Given the description of an element on the screen output the (x, y) to click on. 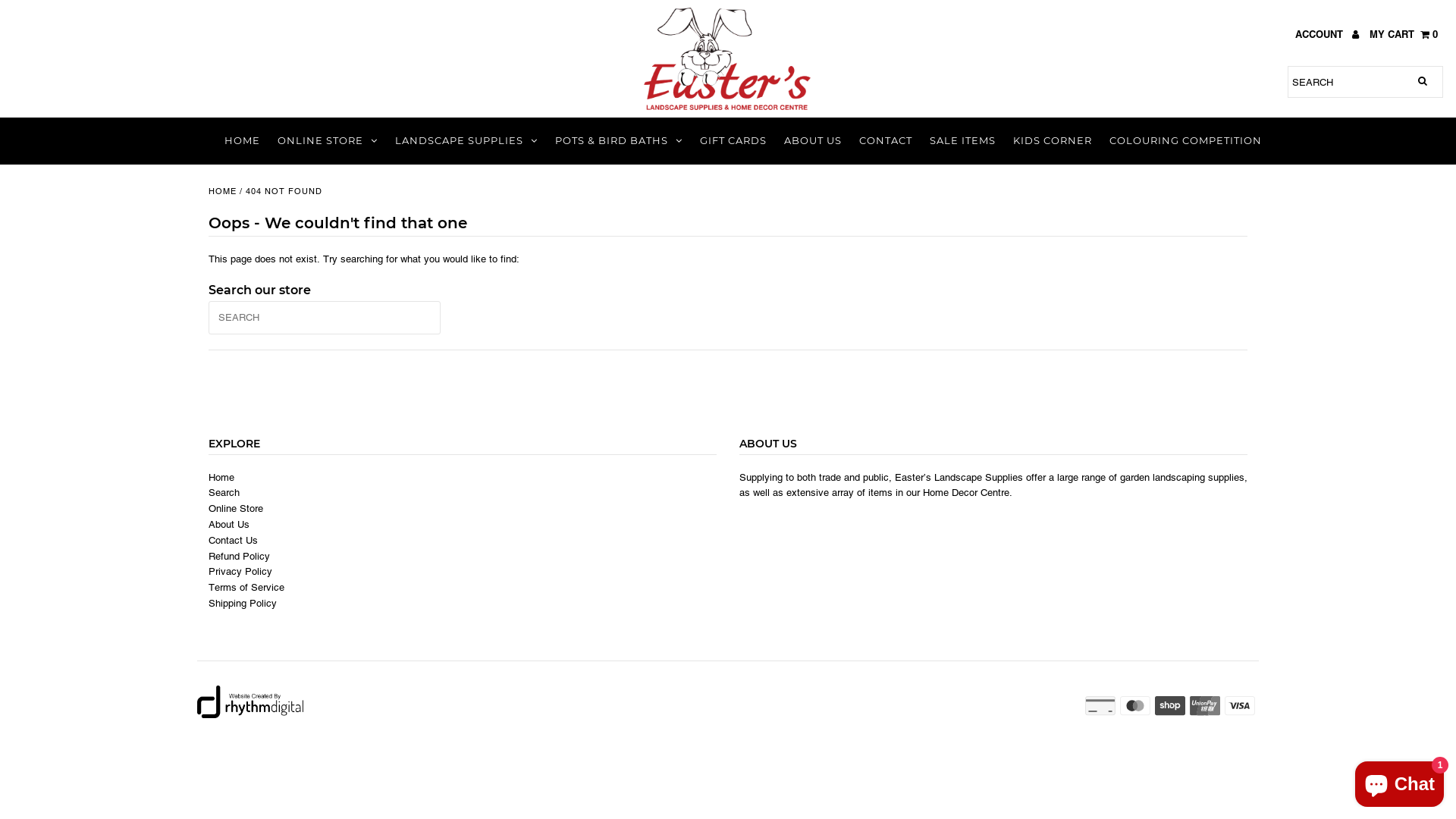
LANDSCAPE SUPPLIES Element type: text (466, 140)
Home Element type: text (221, 477)
Privacy Policy Element type: text (240, 571)
ONLINE STORE Element type: text (327, 140)
ACCOUNT Element type: text (1326, 34)
KIDS CORNER Element type: text (1052, 140)
GIFT CARDS Element type: text (733, 140)
HOME Element type: text (222, 191)
Online Store Element type: text (235, 508)
POTS & BIRD BATHS Element type: text (618, 140)
SALE ITEMS Element type: text (962, 140)
Shopify online store chat Element type: hover (1399, 780)
COLOURING COMPETITION Element type: text (1185, 140)
Search Element type: text (223, 492)
ABOUT US Element type: text (812, 140)
Terms of Service Element type: text (246, 587)
MY CART 0 Element type: text (1403, 34)
Refund Policy Element type: text (238, 556)
HOME Element type: text (241, 140)
About Us Element type: text (228, 524)
CONTACT Element type: text (885, 140)
Shipping Policy Element type: text (242, 603)
Contact Us Element type: text (232, 540)
